Given the description of an element on the screen output the (x, y) to click on. 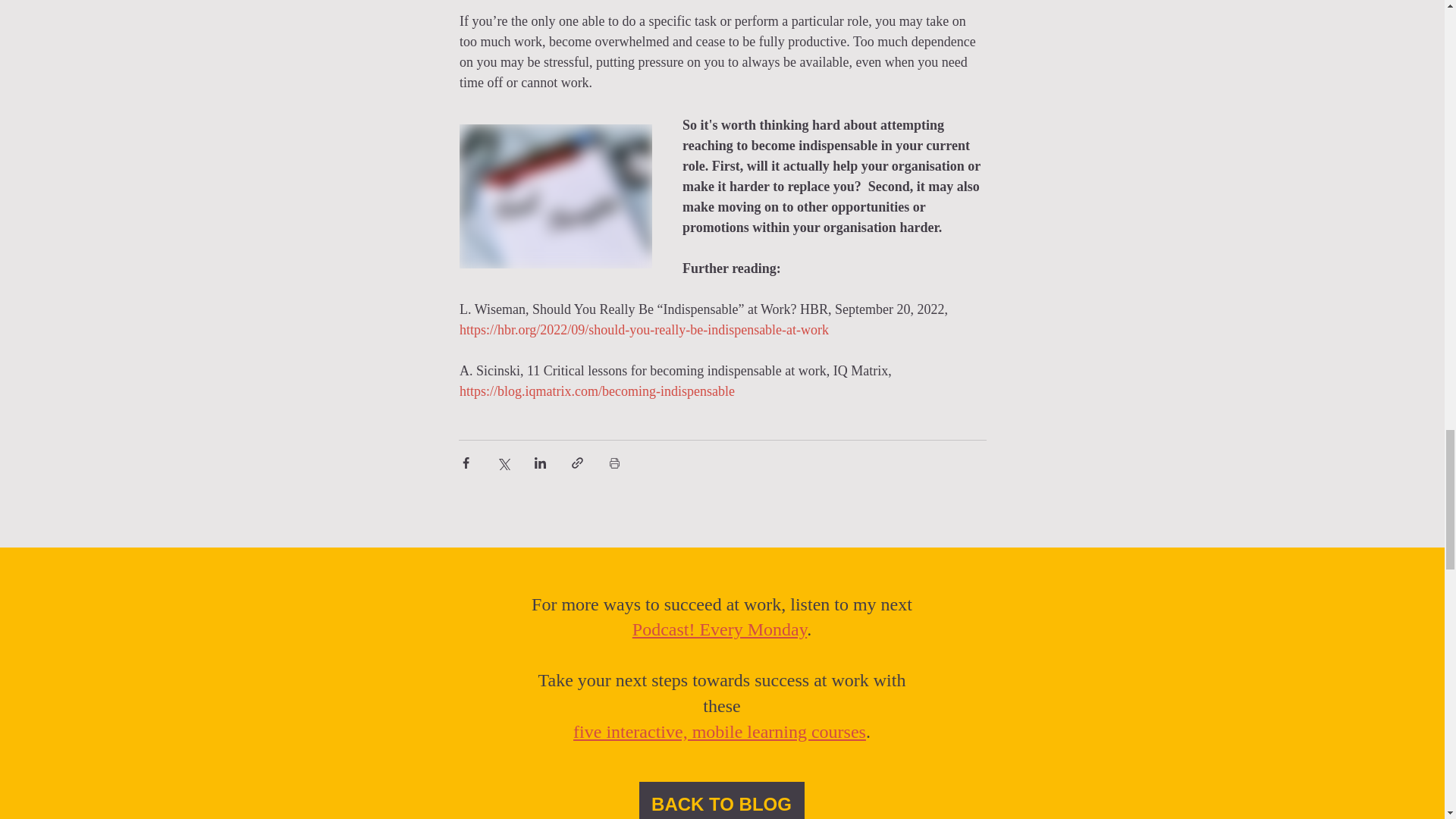
BACK TO BLOG (721, 800)
Podcast! Every Monday (718, 629)
five interactive, mobile learning courses (719, 731)
